Given the description of an element on the screen output the (x, y) to click on. 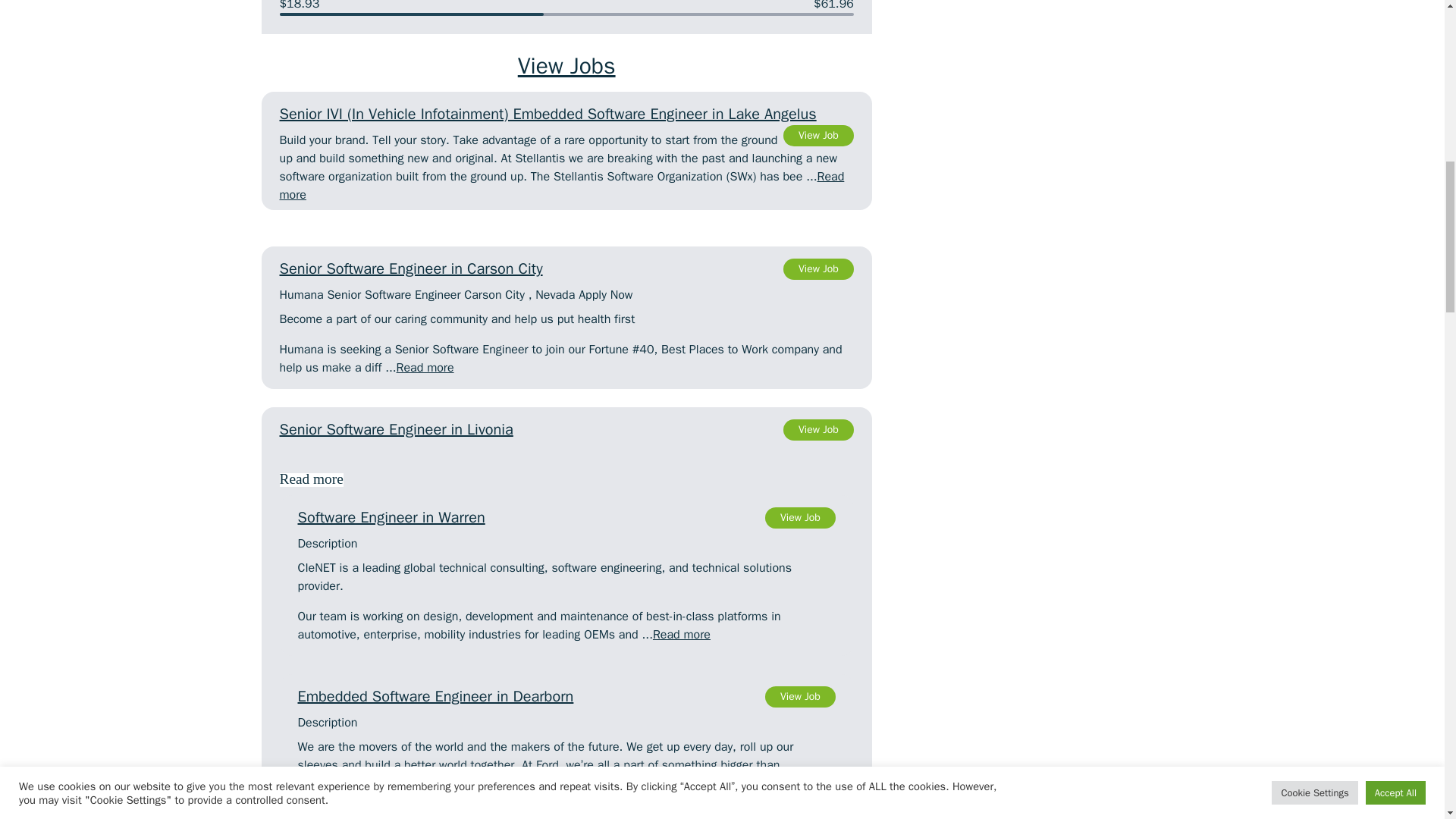
Read more (425, 367)
View Job (565, 517)
View Job (818, 269)
View Job (818, 429)
View Job (565, 696)
Read more (818, 135)
View Job (800, 517)
Read more (561, 185)
